Given the description of an element on the screen output the (x, y) to click on. 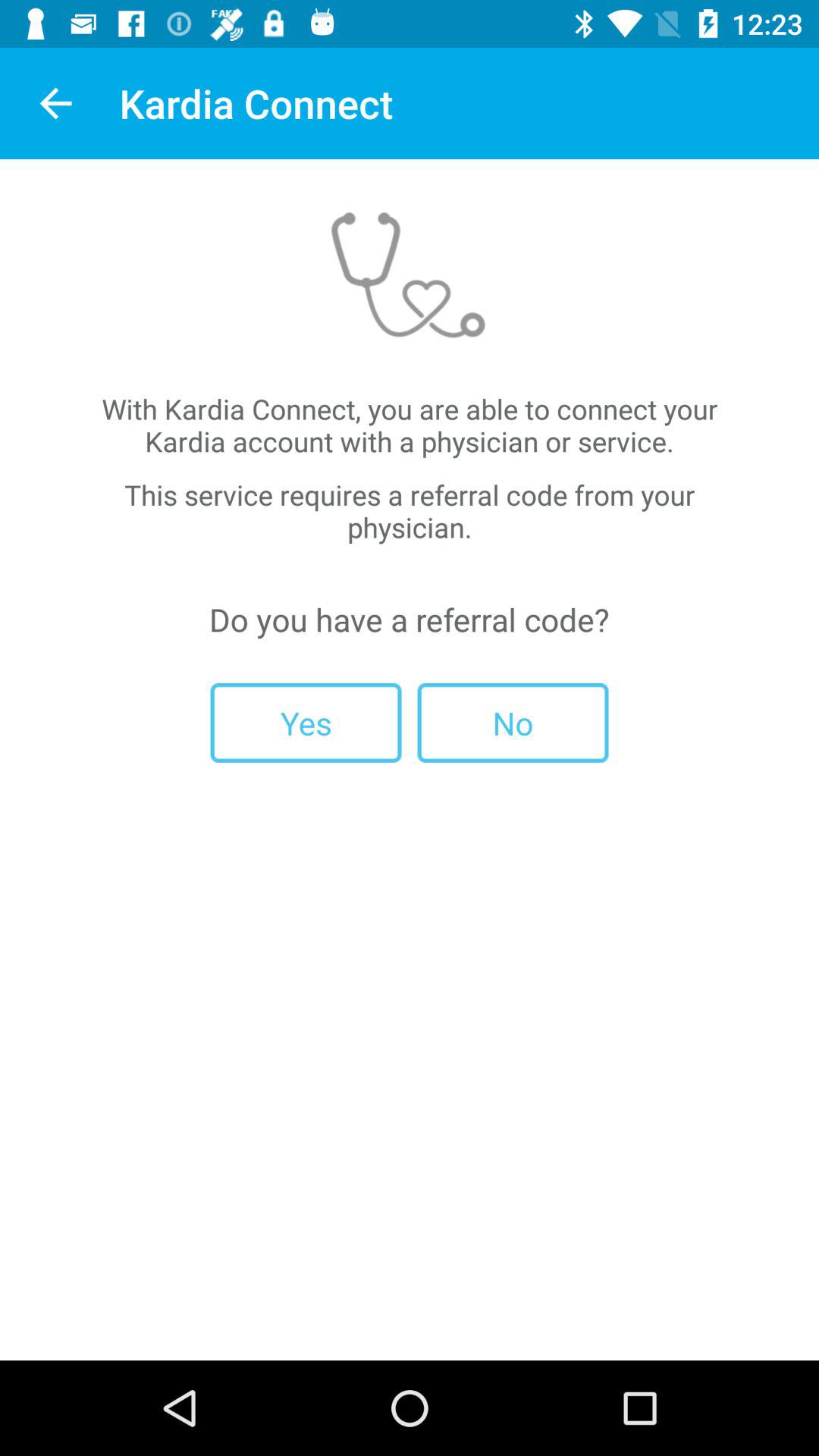
select the icon to the left of no (305, 722)
